Given the description of an element on the screen output the (x, y) to click on. 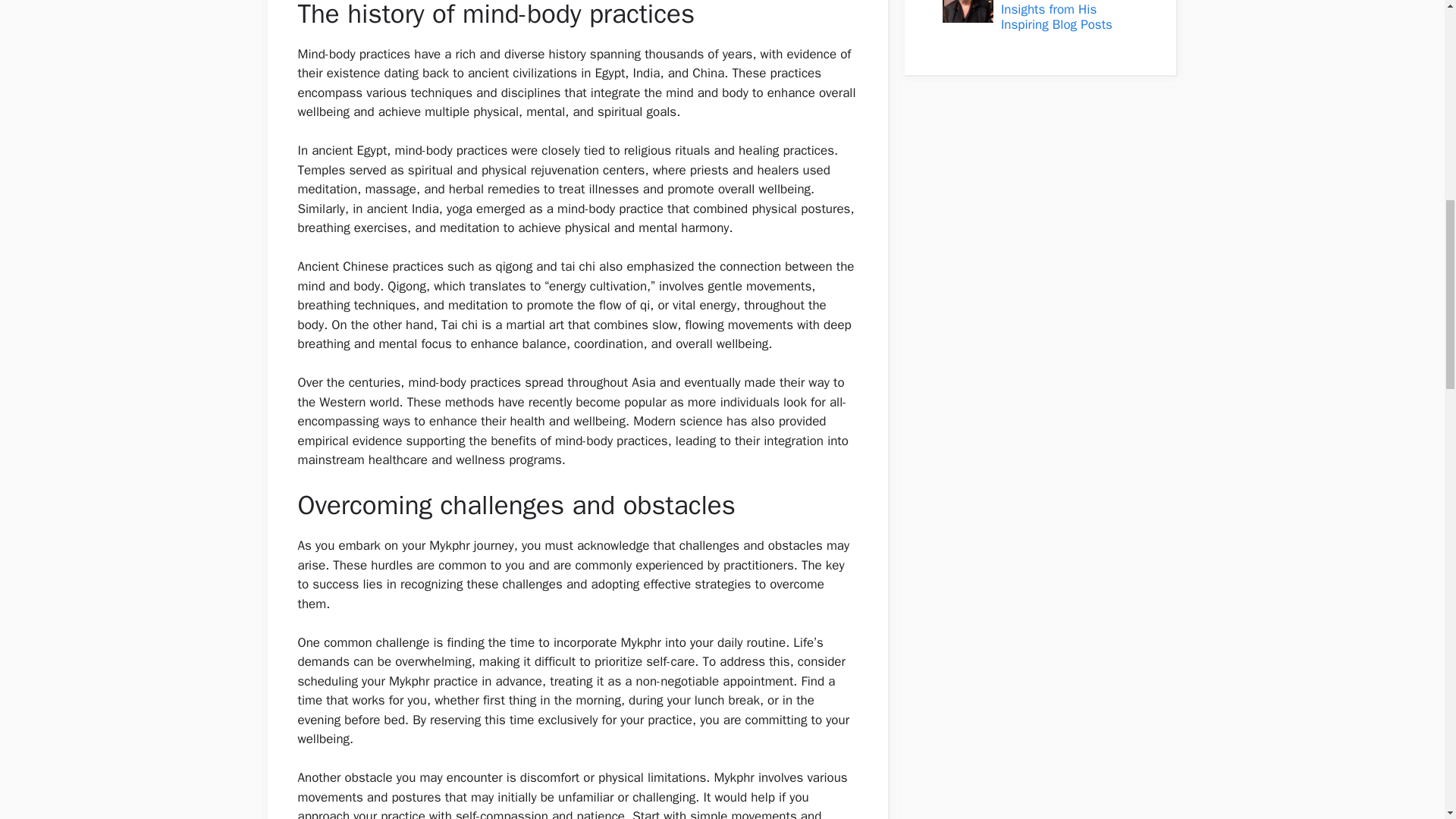
Scroll back to top (1406, 720)
